Given the description of an element on the screen output the (x, y) to click on. 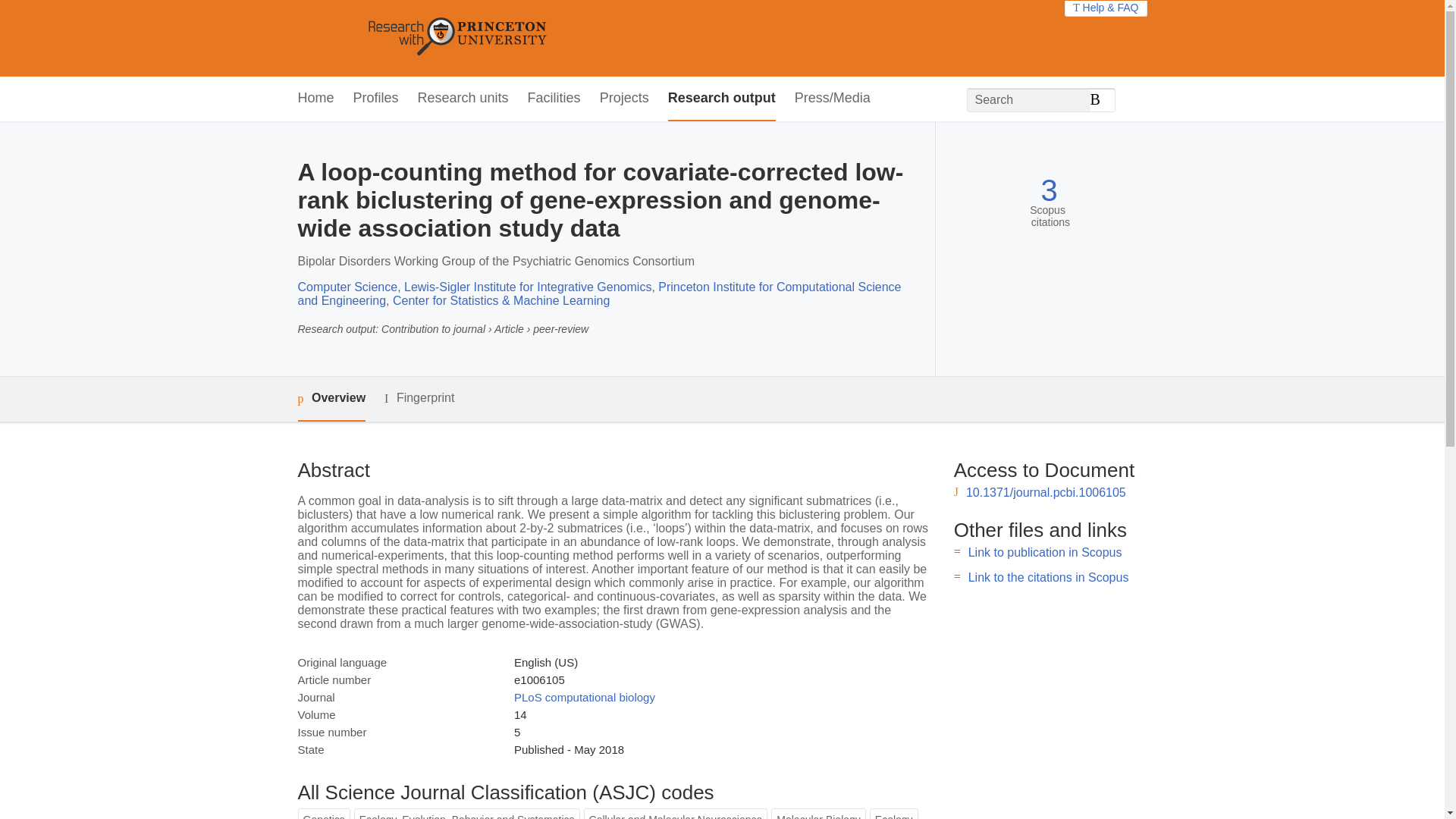
Facilities (553, 98)
Princeton University Home (567, 38)
Lewis-Sigler Institute for Integrative Genomics (527, 286)
Research units (462, 98)
Fingerprint (419, 398)
Link to publication in Scopus (1045, 552)
PLoS computational biology (584, 697)
Research output (722, 98)
Profiles (375, 98)
Link to the citations in Scopus (1048, 576)
Projects (624, 98)
Computer Science (347, 286)
Overview (331, 398)
